Given the description of an element on the screen output the (x, y) to click on. 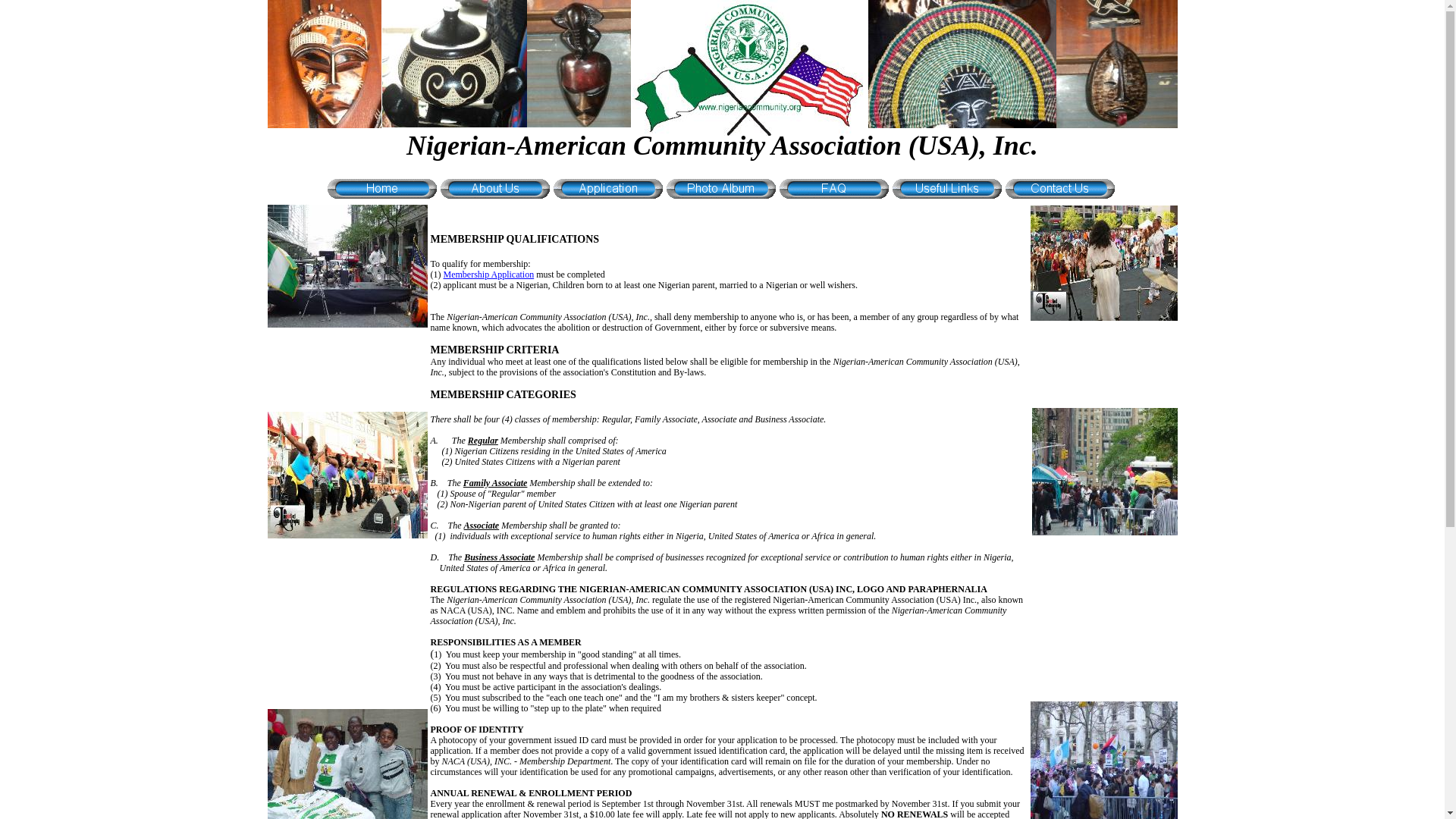
Membership Application (488, 274)
